Given the description of an element on the screen output the (x, y) to click on. 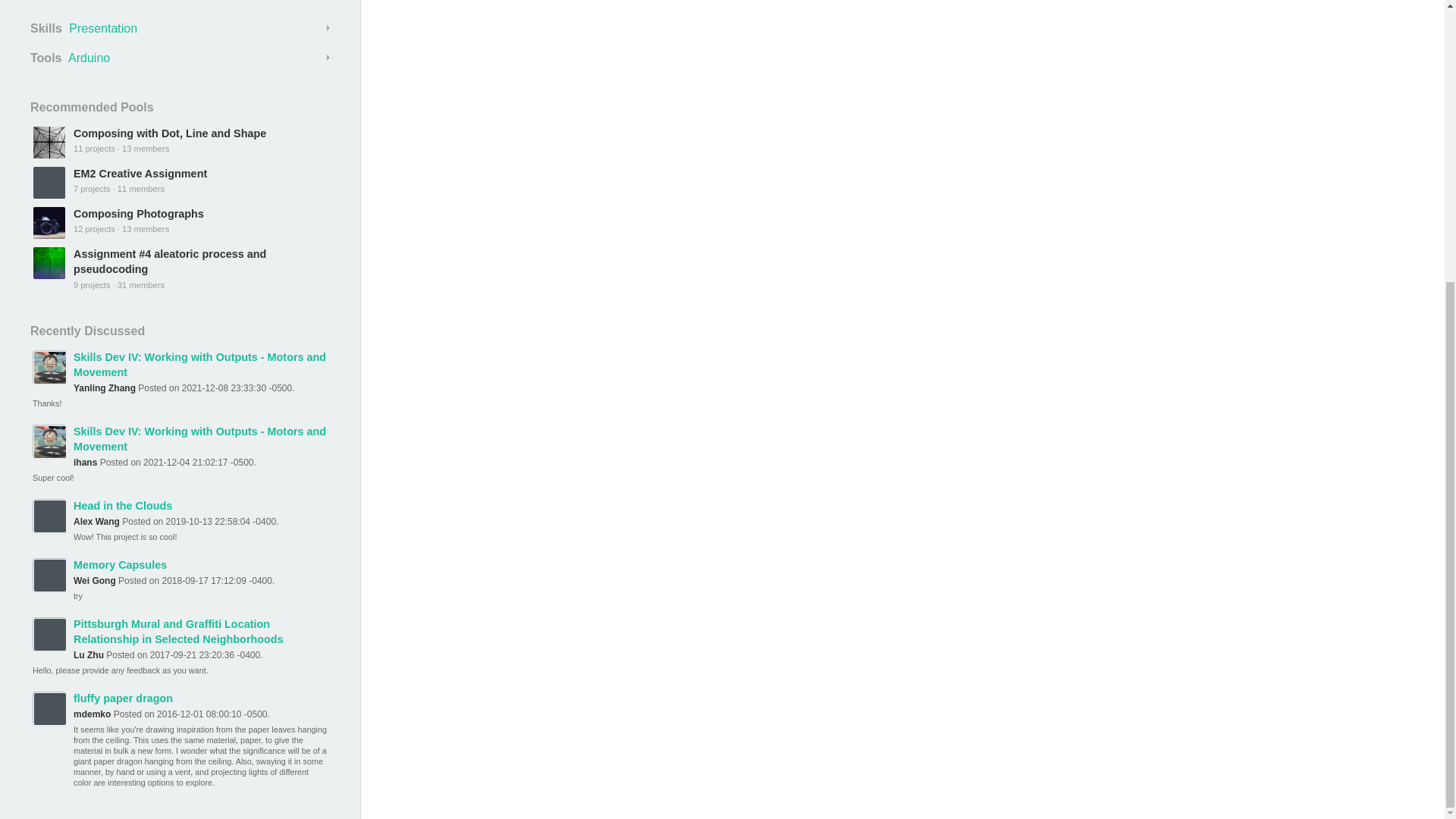
Skills Presentation (180, 28)
